Given the description of an element on the screen output the (x, y) to click on. 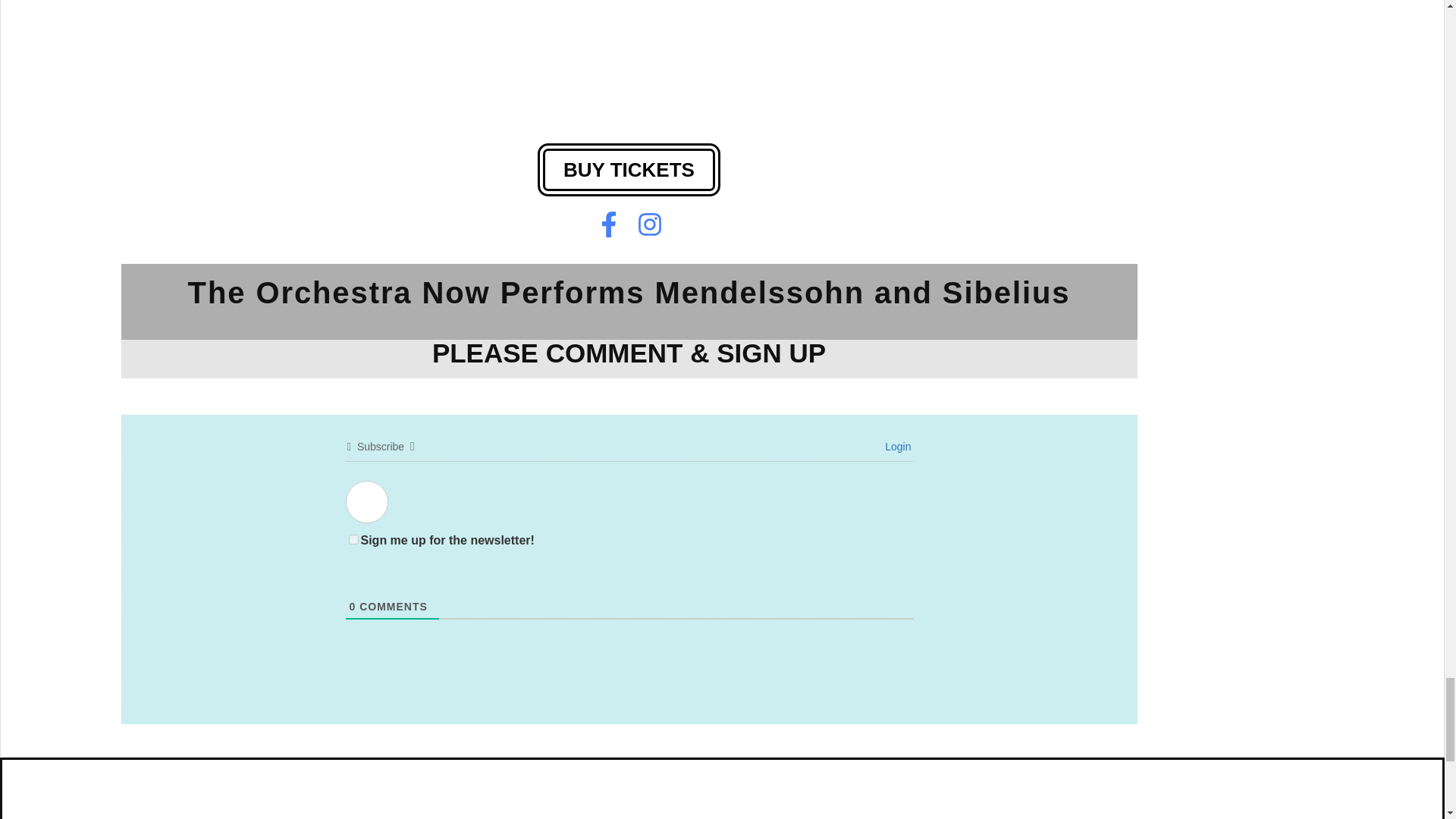
1 (353, 539)
